Given the description of an element on the screen output the (x, y) to click on. 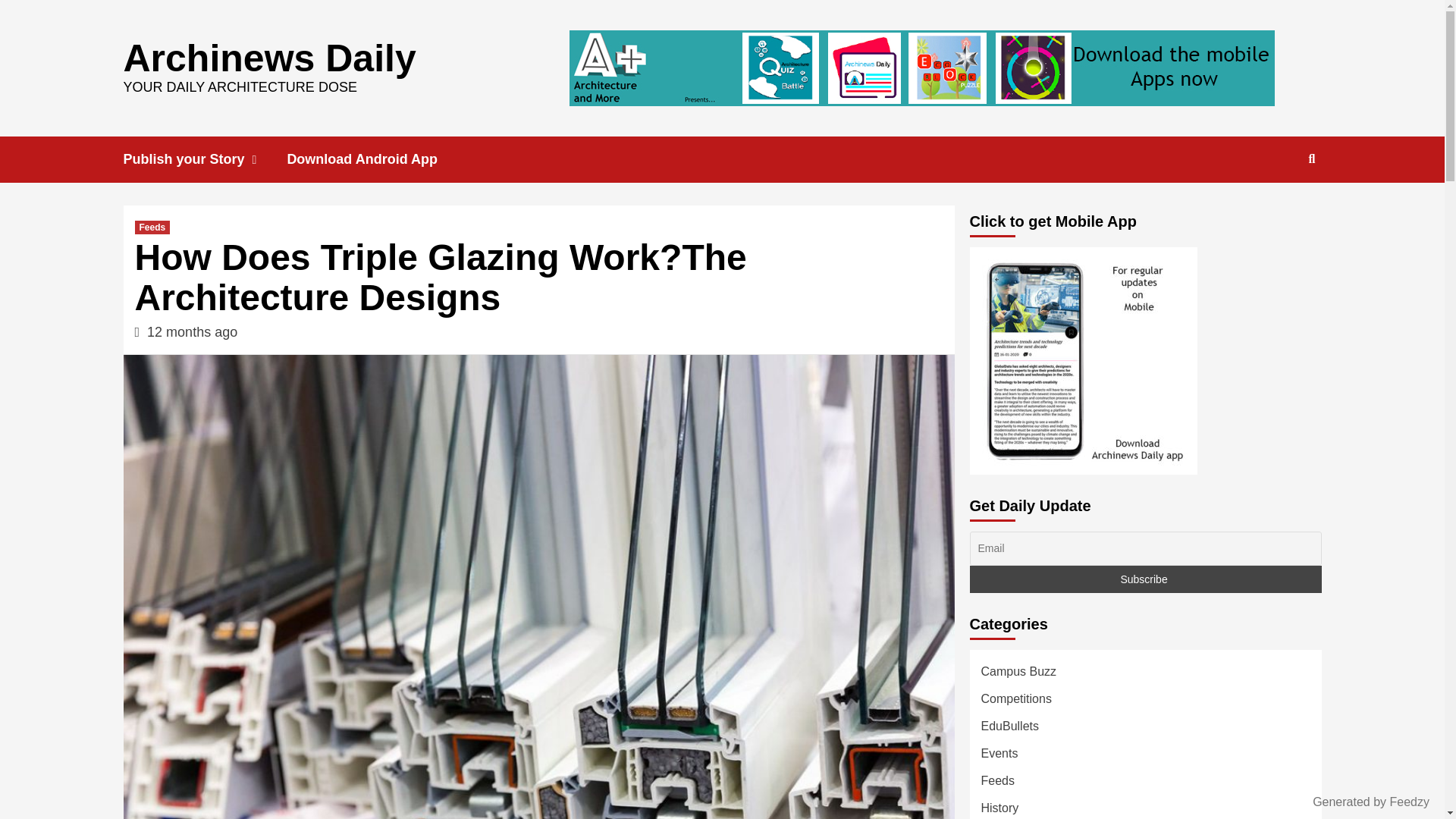
Campus Buzz (1019, 675)
Archinews Daily (268, 57)
12 months ago (192, 331)
Download Android App (373, 159)
Subscribe  (1144, 578)
Subscribe  (1144, 578)
Publish your Story (204, 159)
Click to get Mobile App (1082, 361)
Search (1276, 207)
Feeds (152, 227)
